Given the description of an element on the screen output the (x, y) to click on. 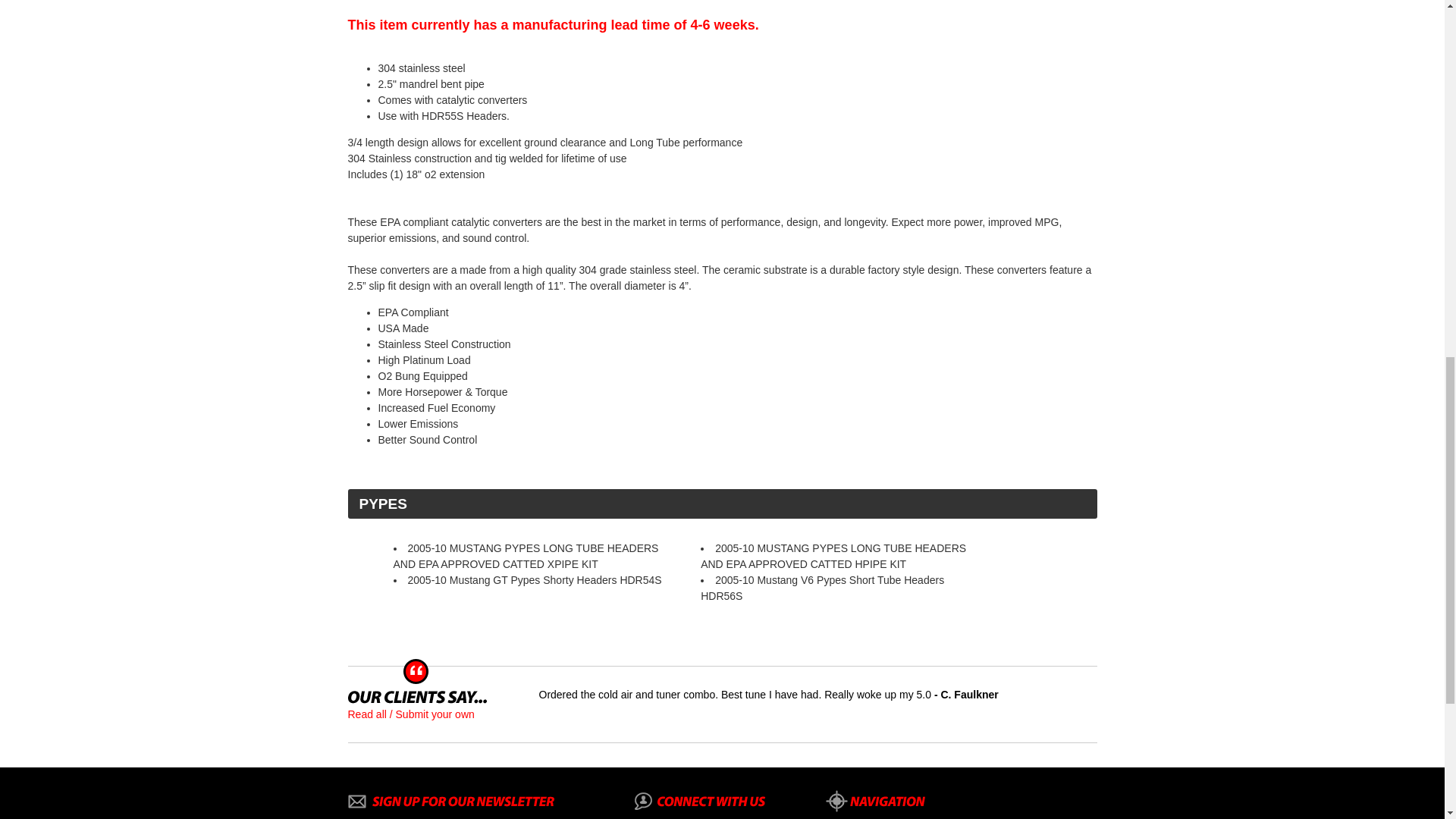
Our Clients Say... (416, 697)
